Given the description of an element on the screen output the (x, y) to click on. 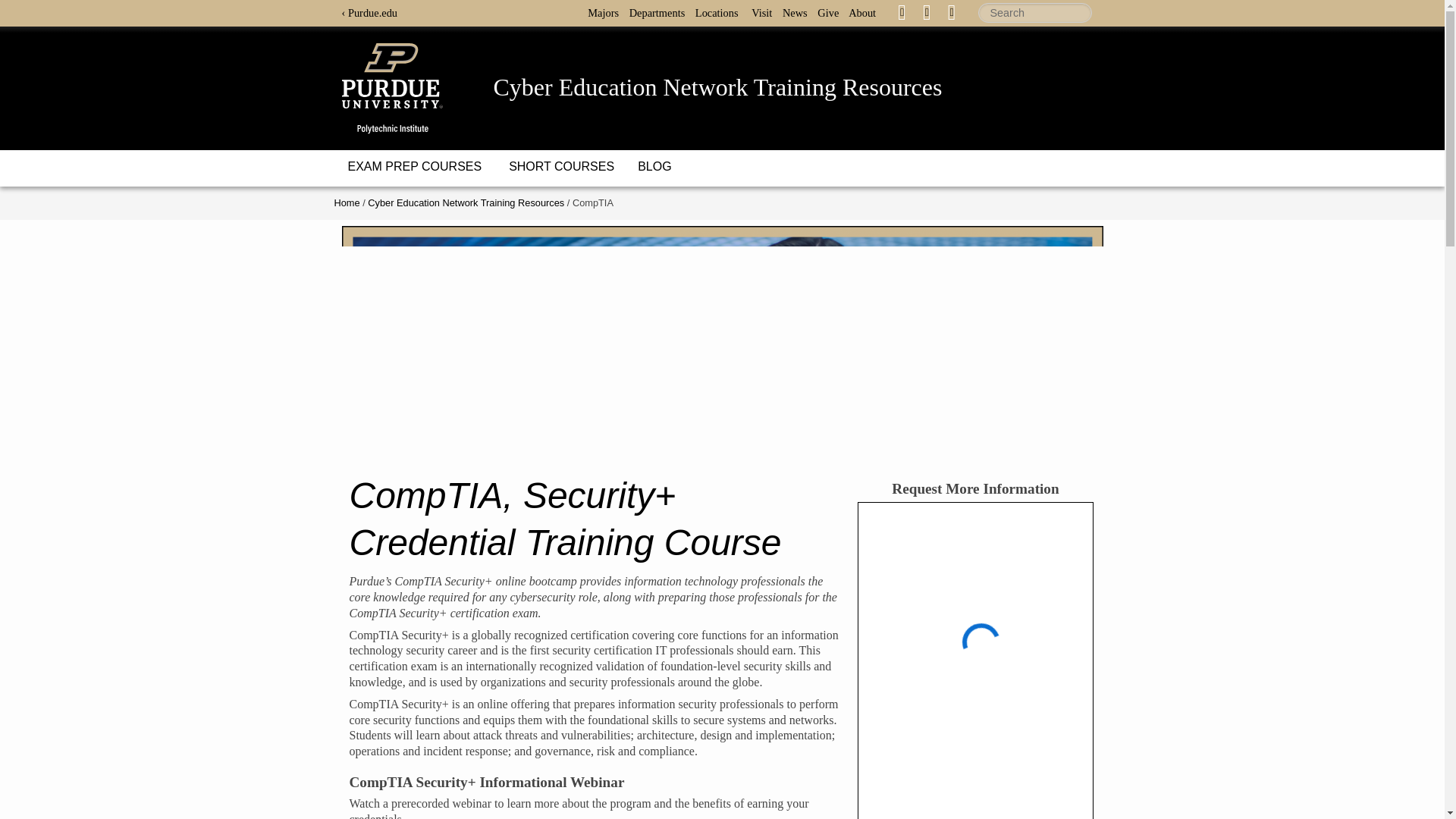
twitter link (926, 12)
Cyber Education Network Training Resources (466, 202)
About (865, 12)
BLOG (654, 167)
Link to instagram (951, 10)
Link to twitter (926, 10)
Give (830, 12)
Link to facebook (901, 10)
Search (1035, 12)
